Given the description of an element on the screen output the (x, y) to click on. 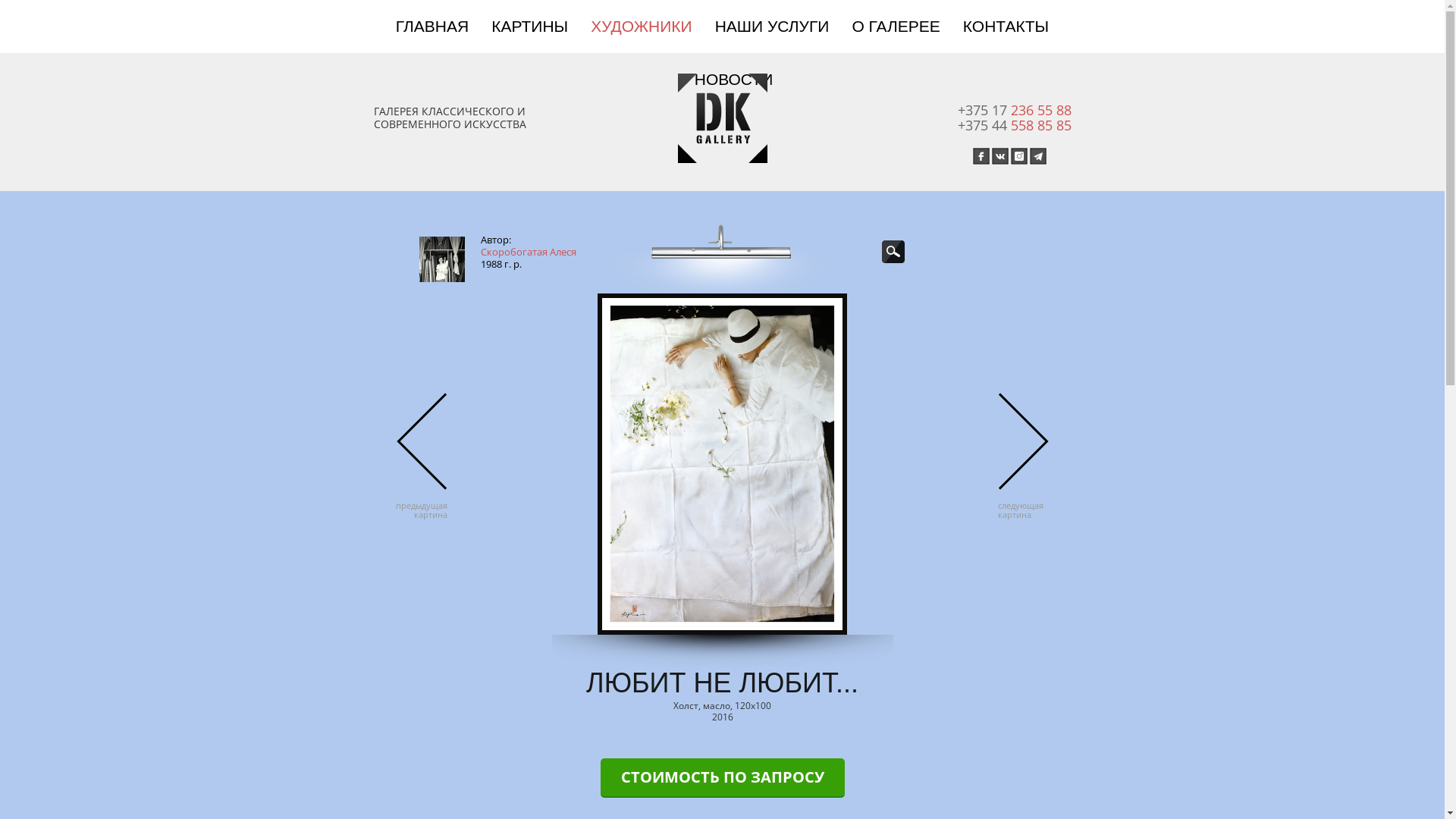
+375 17 236 55 88 Element type: text (1013, 109)
+375 44 558 85 85 Element type: text (1013, 125)
